Given the description of an element on the screen output the (x, y) to click on. 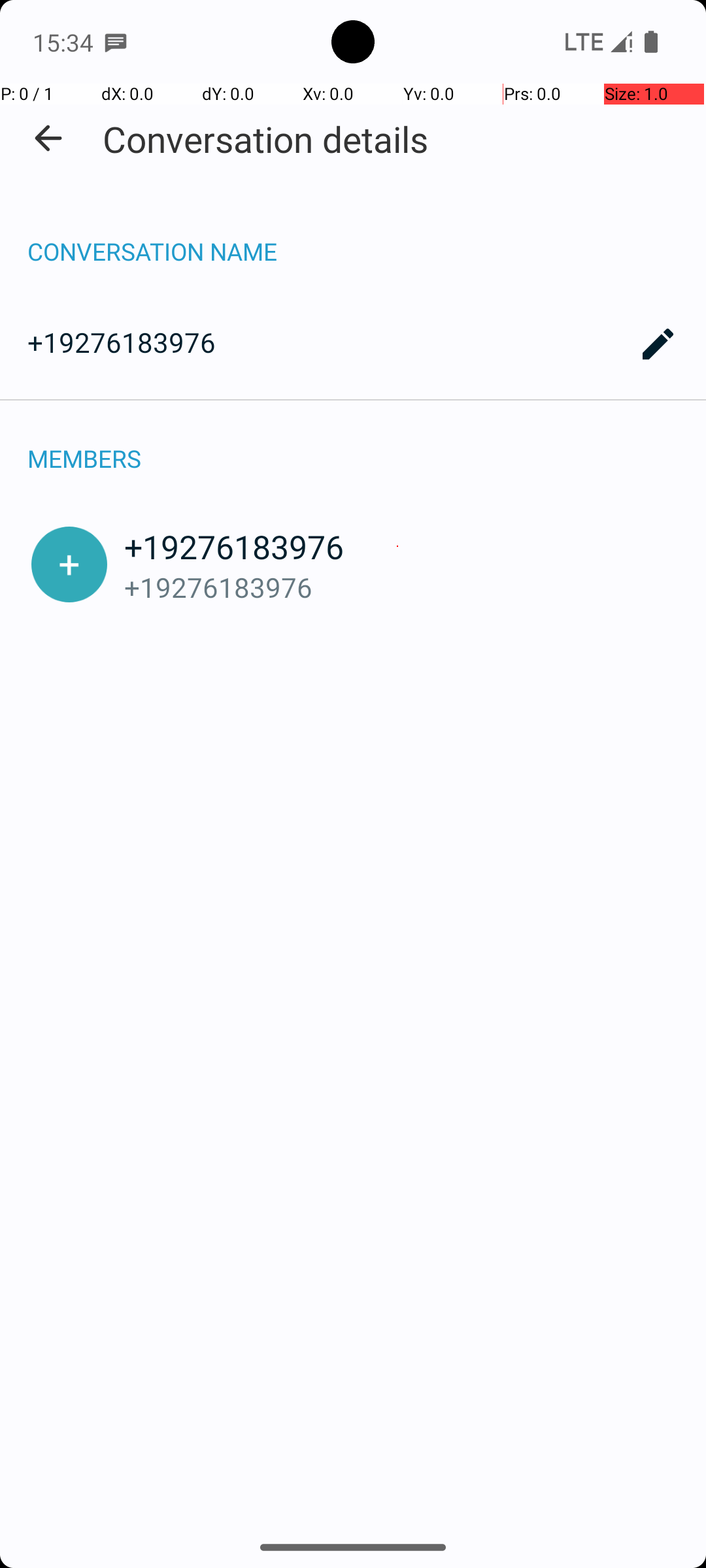
Conversation details Element type: android.widget.TextView (265, 138)
CONVERSATION NAME Element type: android.widget.TextView (352, 237)
+19276183976 Element type: android.widget.TextView (353, 343)
MEMBERS Element type: android.widget.TextView (352, 444)
